Given the description of an element on the screen output the (x, y) to click on. 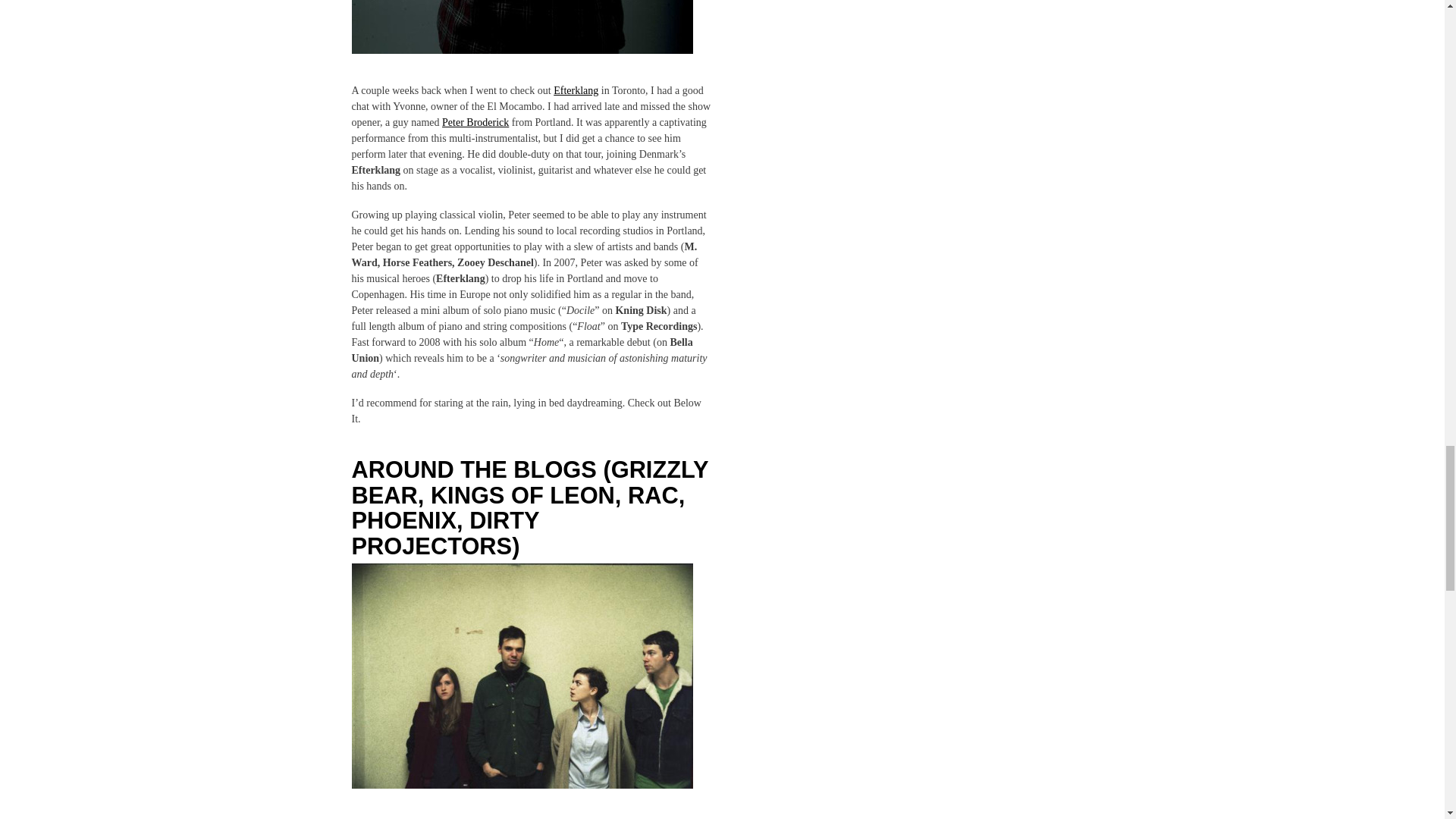
Efterklang (575, 90)
The Dirty Projectors (522, 675)
Peter Broderick (475, 122)
Peter Broderick (522, 27)
